Given the description of an element on the screen output the (x, y) to click on. 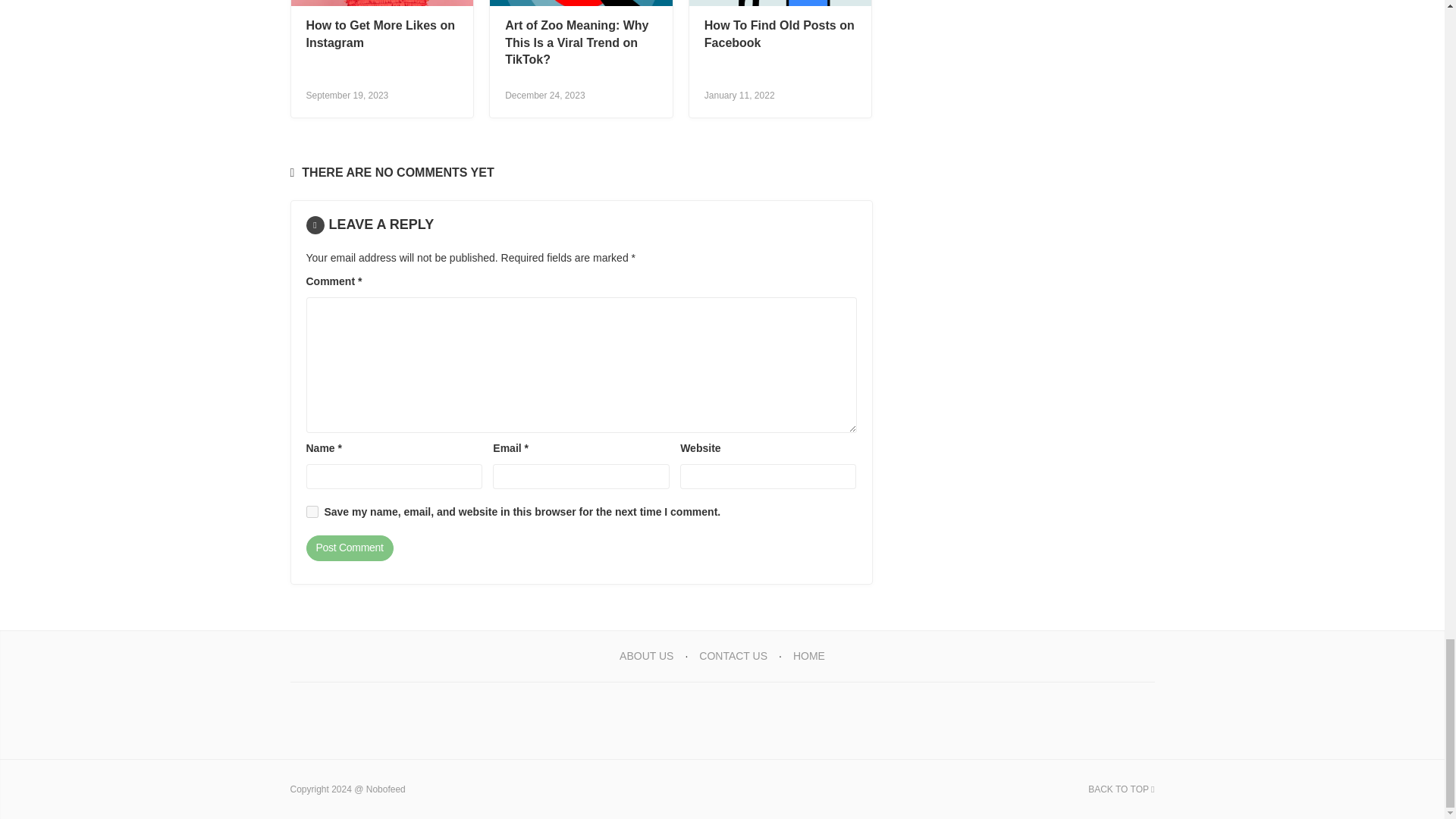
BACK TO TOP  (1120, 789)
yes (311, 511)
Post Comment (349, 548)
